Given the description of an element on the screen output the (x, y) to click on. 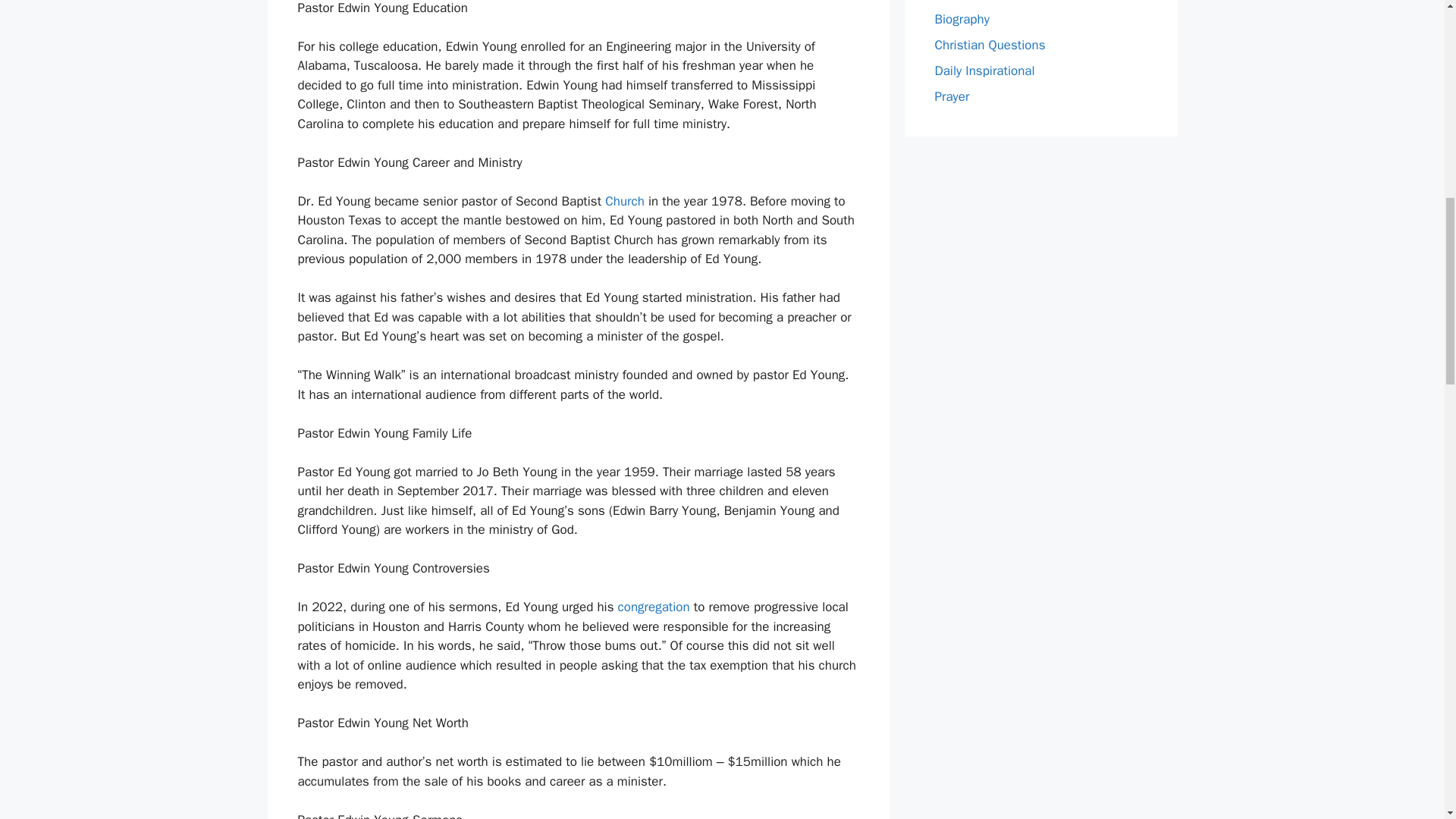
Church (625, 201)
Biography (961, 18)
Daily Inspirational (983, 69)
congregation (652, 606)
Christian Questions (989, 44)
